Given the description of an element on the screen output the (x, y) to click on. 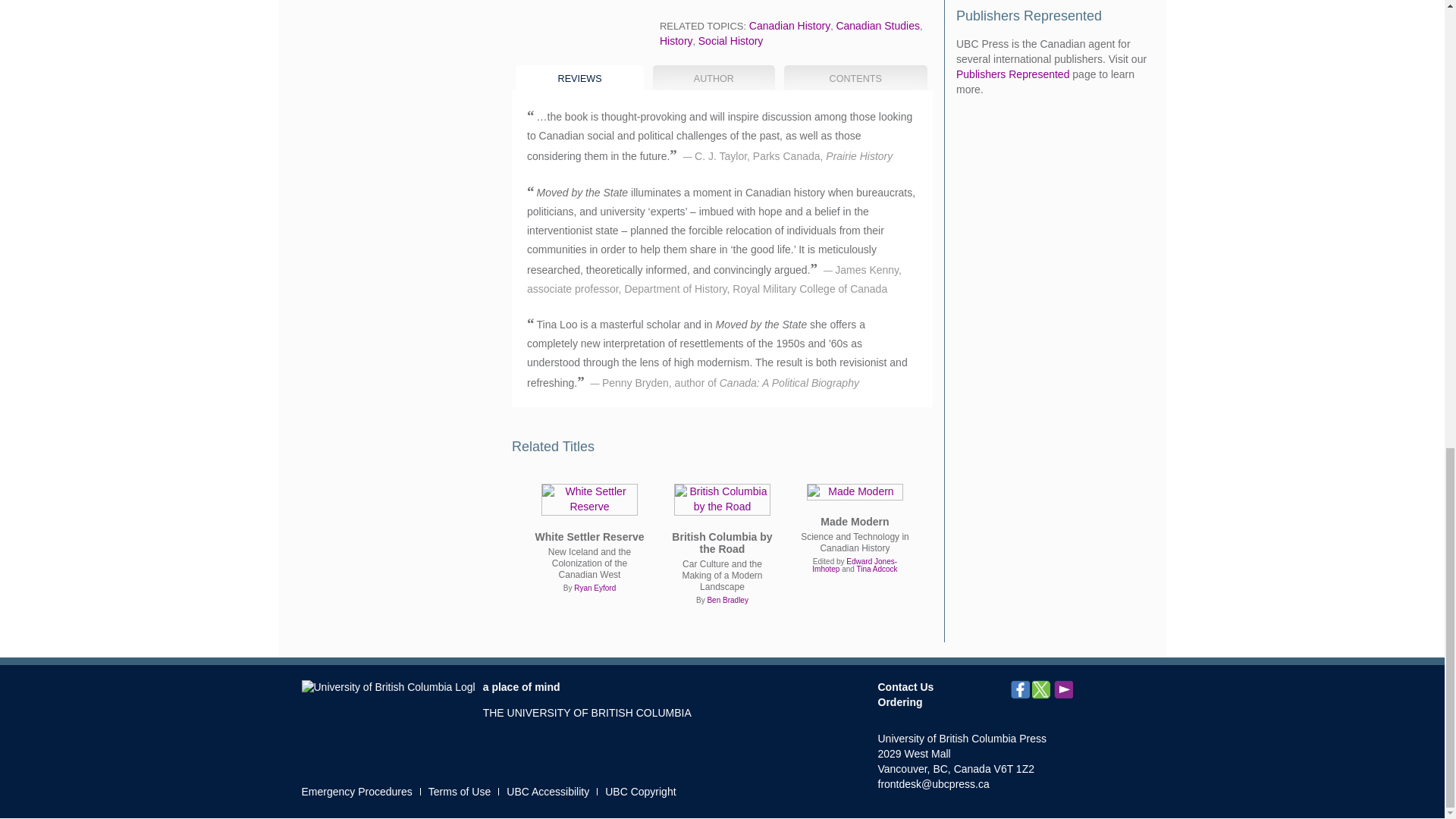
Twitter page (1041, 689)
LinkedIn page (1084, 689)
Instagram page (1106, 689)
YouTube page (1063, 689)
Facebook page (1019, 689)
